Given the description of an element on the screen output the (x, y) to click on. 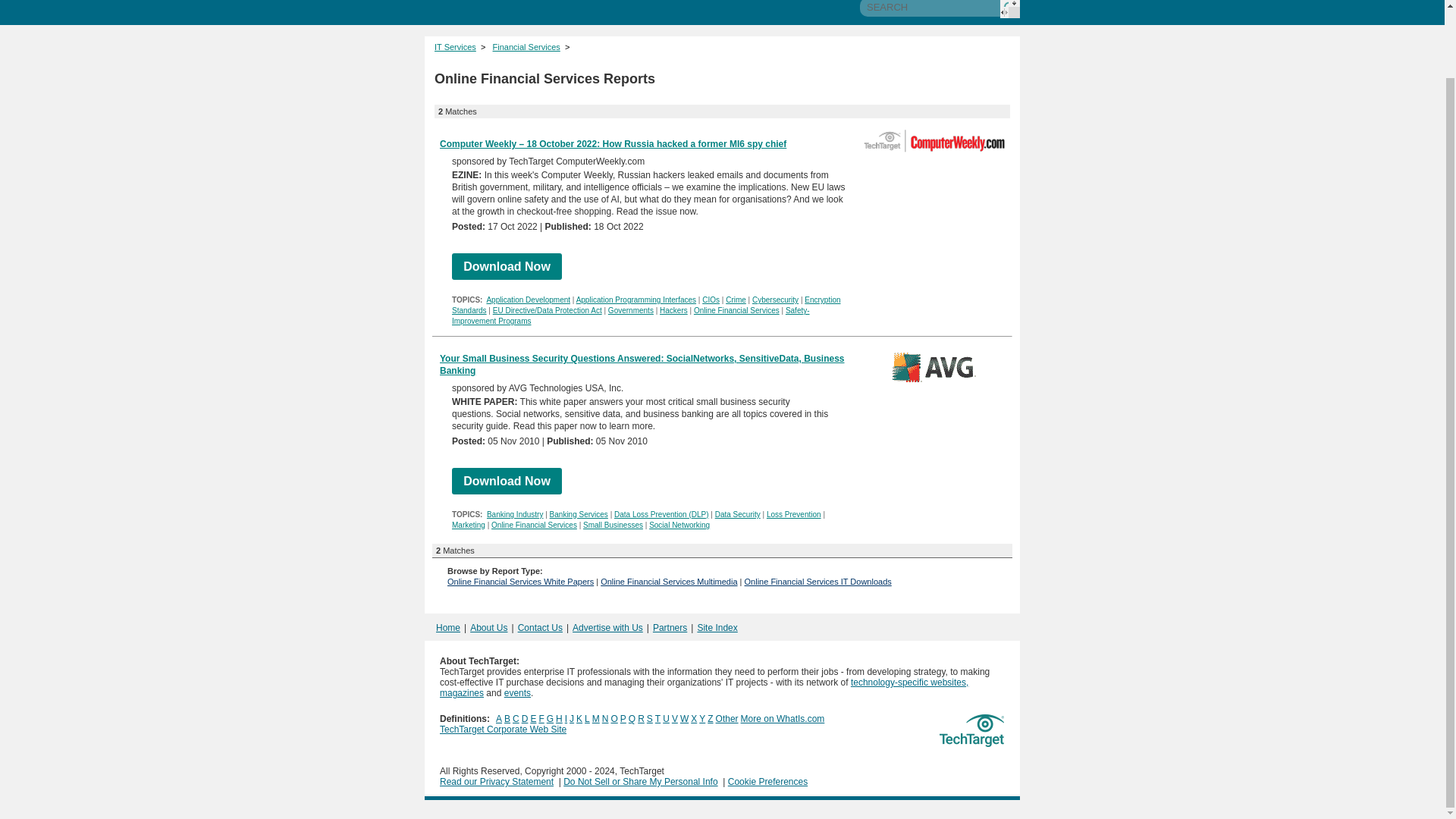
Crime (735, 299)
Hackers (673, 310)
IT Services (454, 46)
Safety-Improvement Programs (630, 315)
CIOs (710, 299)
Marketing (467, 524)
SEARCH (930, 8)
Small Businesses (613, 524)
Banking Services (579, 514)
Application Development (528, 299)
